Given the description of an element on the screen output the (x, y) to click on. 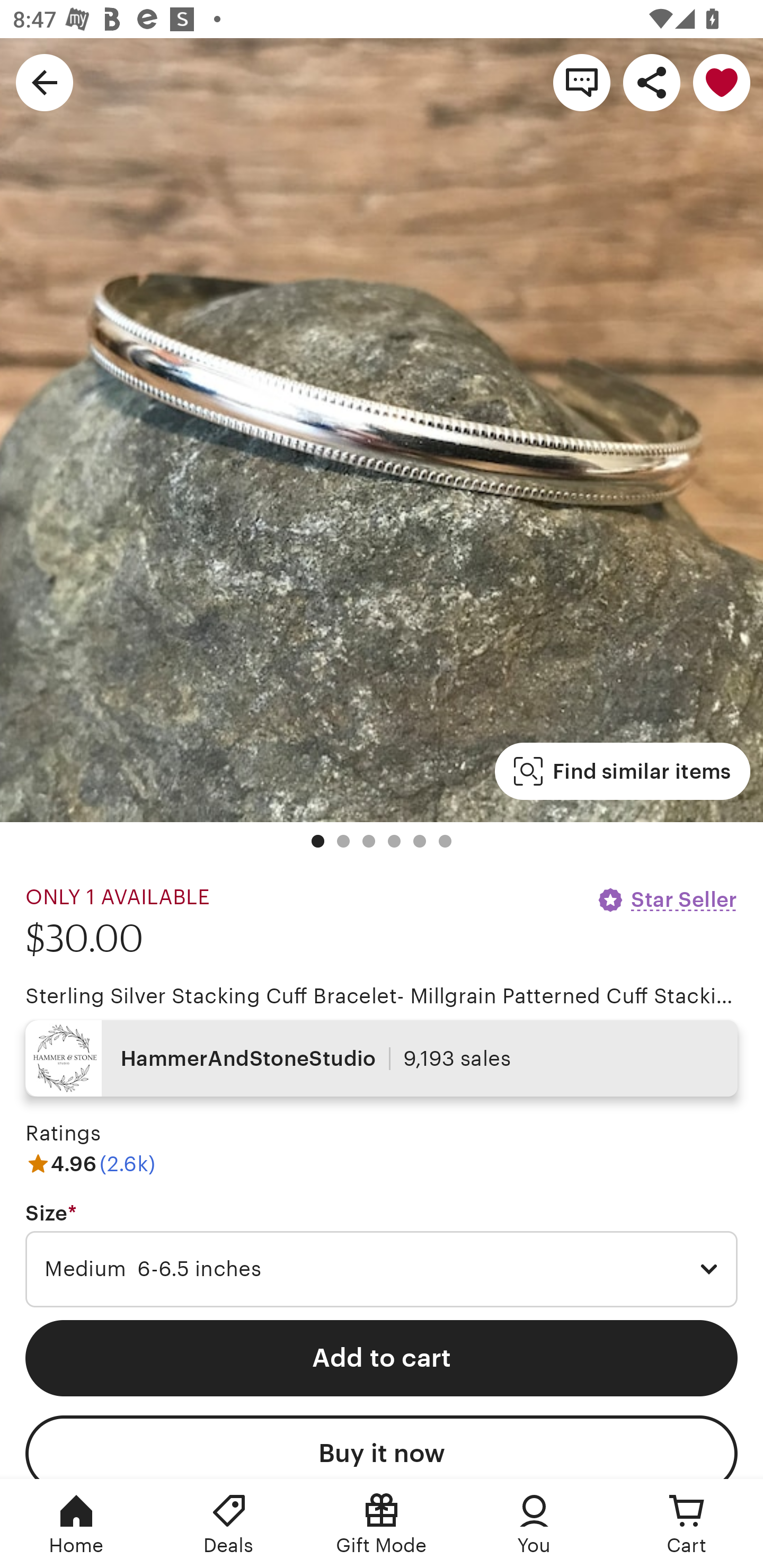
Navigate up (44, 81)
Contact shop (581, 81)
Share (651, 81)
Find similar items (622, 771)
Star Seller (666, 899)
HammerAndStoneStudio 9,193 sales (381, 1058)
Ratings (62, 1133)
4.96 (2.6k) (90, 1163)
Size * Required Medium  6-6.5 inches (381, 1254)
Medium  6-6.5 inches (381, 1268)
Add to cart (381, 1358)
Buy it now (381, 1446)
Deals (228, 1523)
Gift Mode (381, 1523)
You (533, 1523)
Cart (686, 1523)
